Given the description of an element on the screen output the (x, y) to click on. 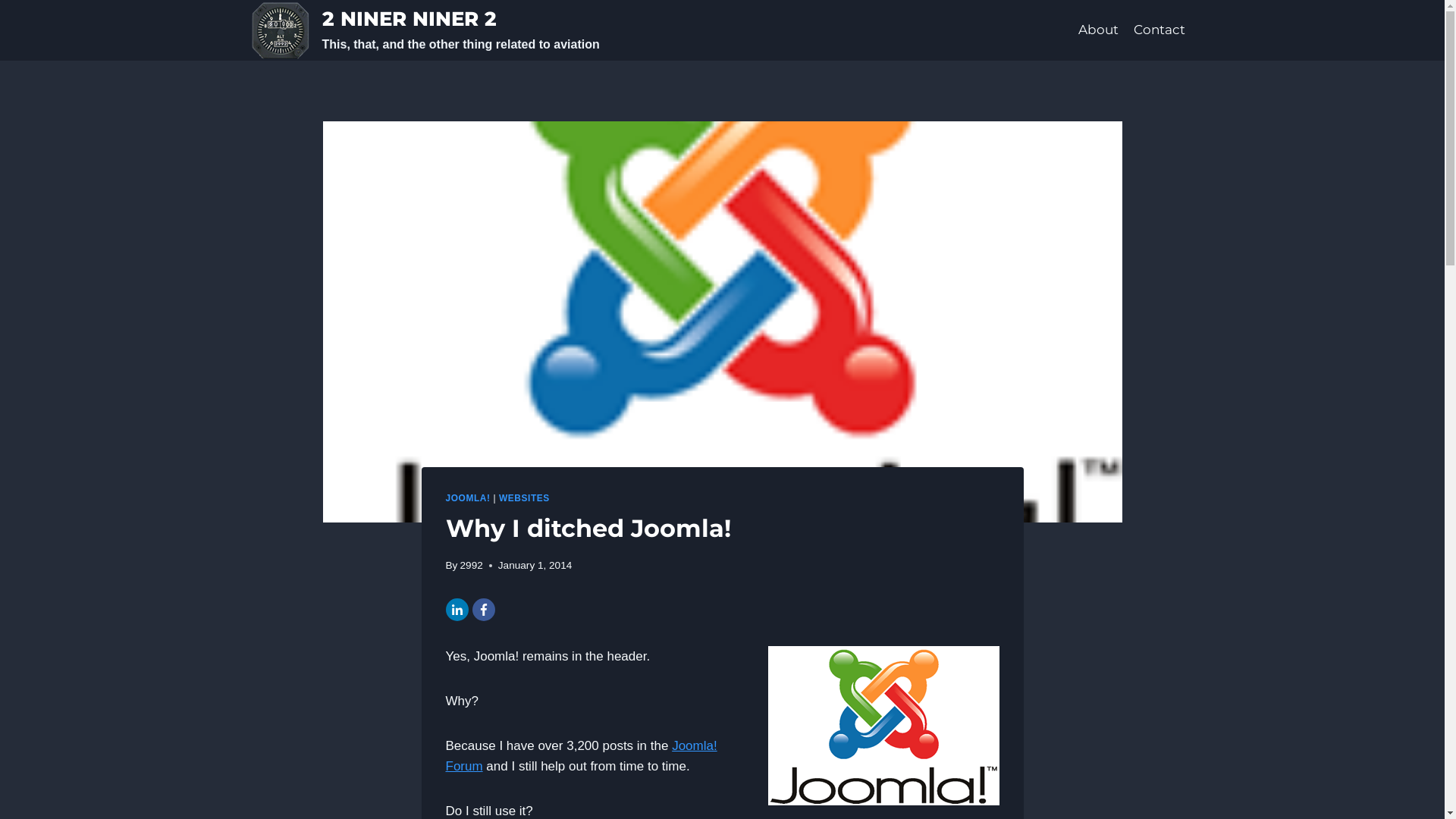
WEBSITES Element type: text (523, 497)
JOOMLA! Element type: text (467, 497)
Joomla! Forum Element type: text (581, 755)
2992 Element type: text (471, 565)
Contact Element type: text (1159, 30)
About Element type: text (1098, 30)
